Given the description of an element on the screen output the (x, y) to click on. 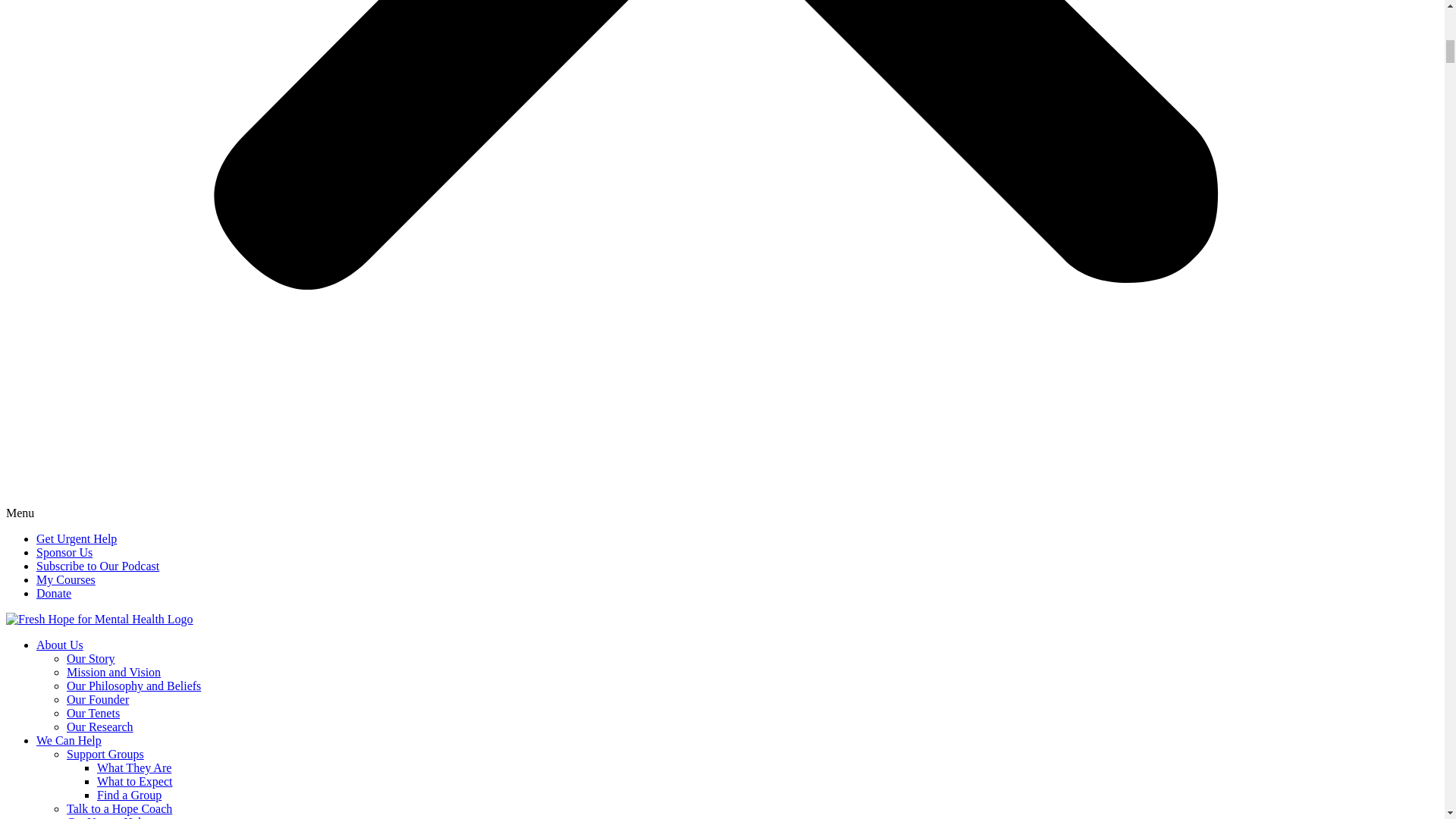
Talk to a Hope Coach (118, 808)
What They Are (134, 767)
Get Urgent Help (76, 538)
We Can Help (68, 739)
My Courses (66, 579)
Our Story (90, 658)
Sponsor Us (64, 552)
Support Groups (105, 753)
Our Tenets (92, 712)
Get Urgent Help (106, 817)
